Given the description of an element on the screen output the (x, y) to click on. 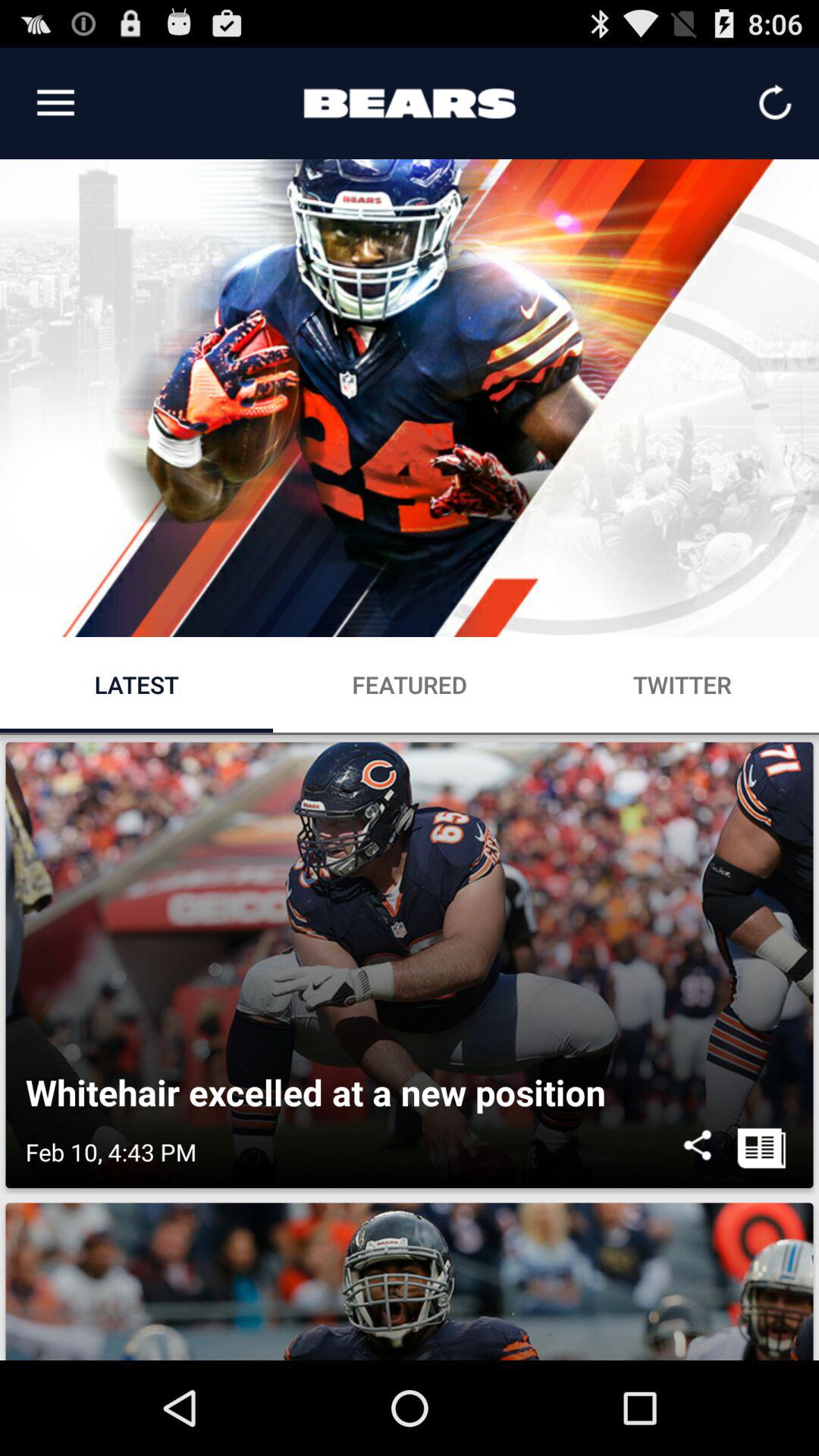
press item next to the feb 10 4 item (697, 1152)
